Given the description of an element on the screen output the (x, y) to click on. 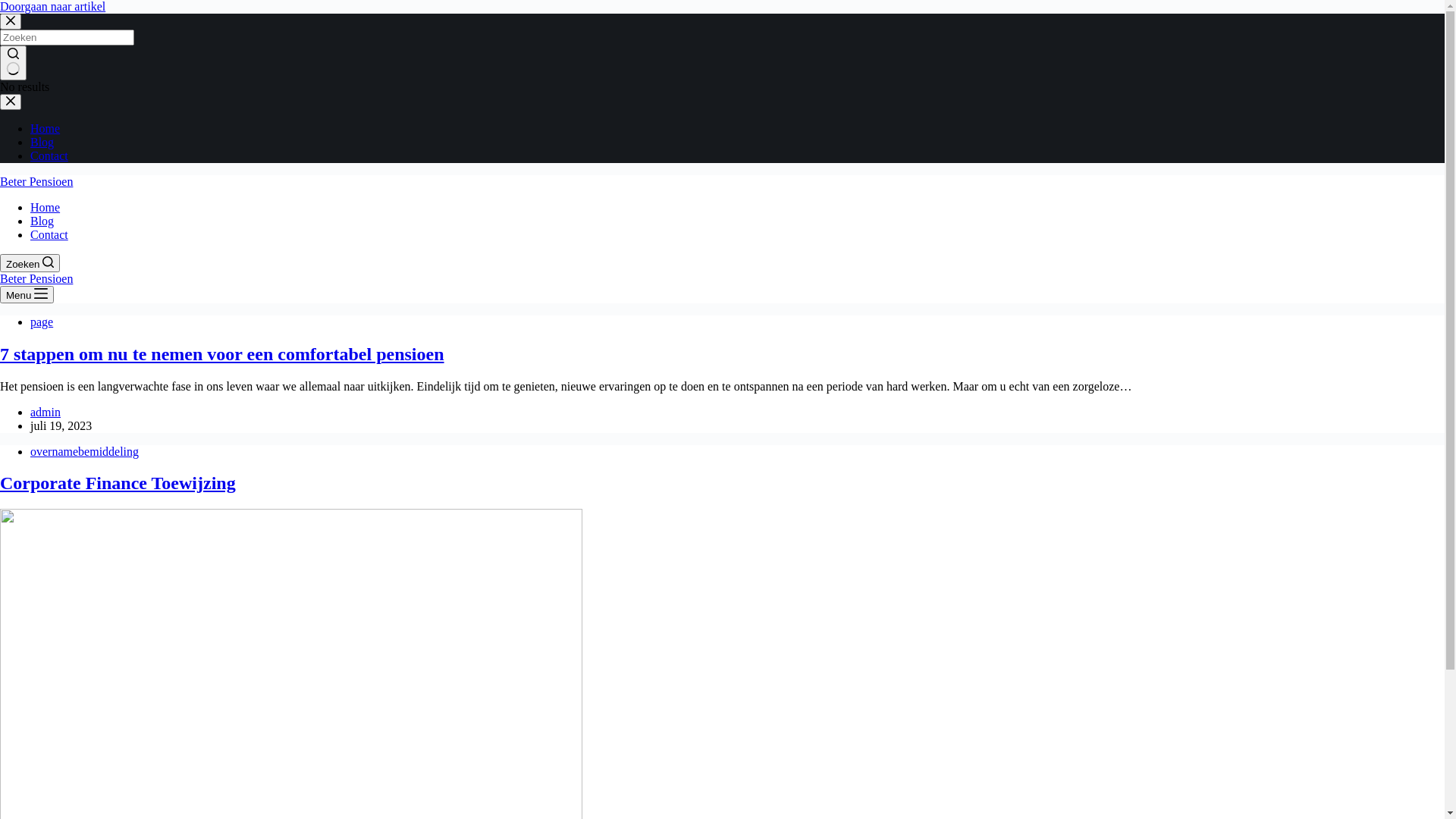
Menu Element type: text (26, 294)
Home Element type: text (44, 206)
page Element type: text (41, 321)
Contact Element type: text (49, 155)
Home Element type: text (44, 128)
Search for... Element type: hover (67, 37)
Beter Pensioen Element type: text (36, 181)
Beter Pensioen Element type: text (36, 278)
Blog Element type: text (41, 220)
7 stappen om nu te nemen voor een comfortabel pensioen Element type: text (222, 354)
Blog Element type: text (41, 141)
admin Element type: text (45, 411)
Doorgaan naar artikel Element type: text (52, 6)
Contact Element type: text (49, 234)
Corporate Finance Toewijzing Element type: text (117, 482)
Zoeken Element type: text (29, 263)
overnamebemiddeling Element type: text (84, 451)
